Given the description of an element on the screen output the (x, y) to click on. 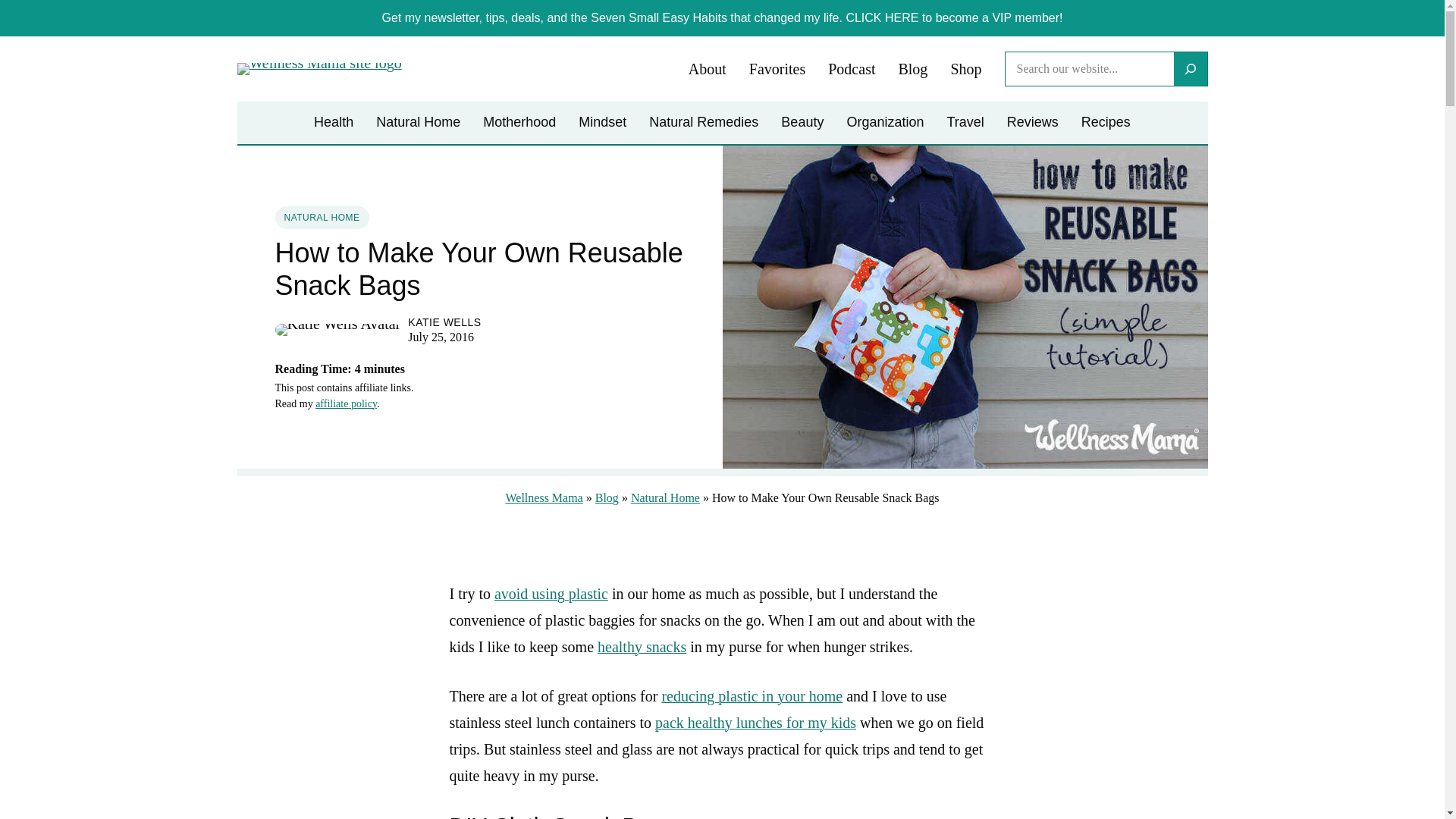
Reviews (1032, 122)
healthy snacks (640, 646)
pack healthy lunches for my kids (755, 722)
Favorites (777, 69)
Health (333, 122)
NATURAL HOME (321, 217)
Mindset (602, 122)
Wellness Mama (543, 497)
Natural Home (417, 122)
Recipes (1106, 122)
